Given the description of an element on the screen output the (x, y) to click on. 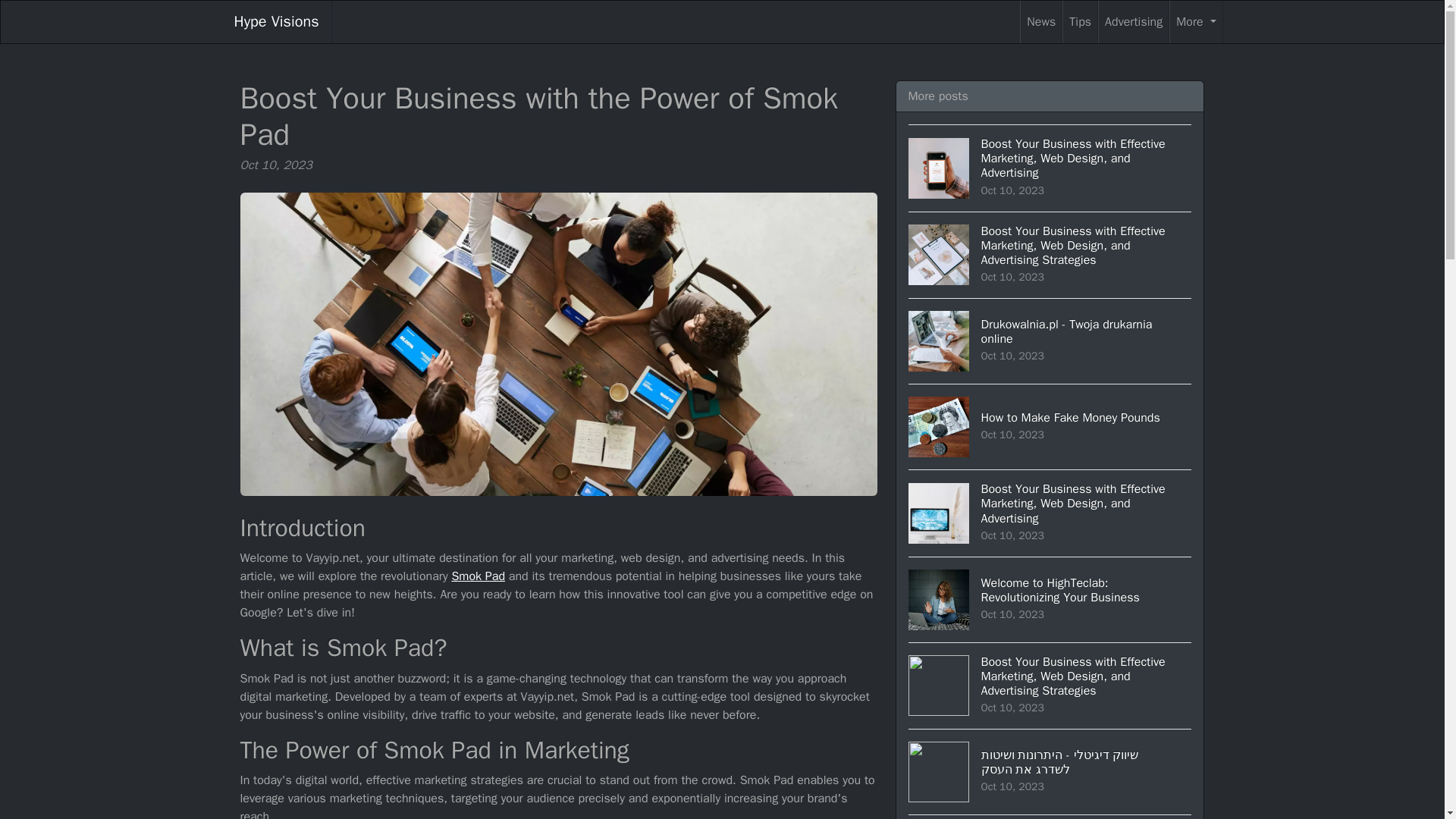
News (1041, 21)
Smok Pad (1050, 426)
Hype Visions (478, 575)
Advertising (1050, 341)
More (276, 21)
